Given the description of an element on the screen output the (x, y) to click on. 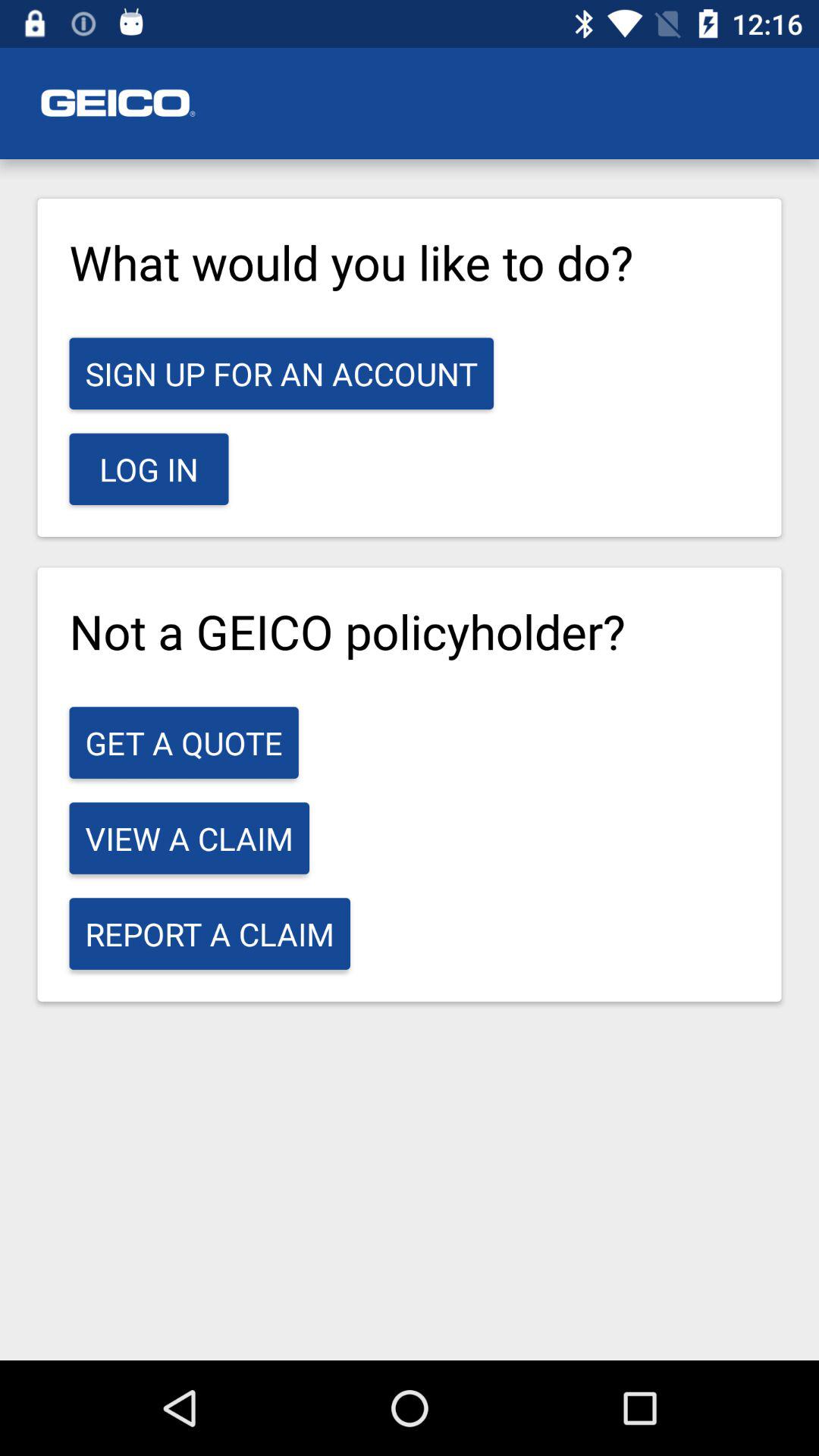
jump until the log in (148, 468)
